Given the description of an element on the screen output the (x, y) to click on. 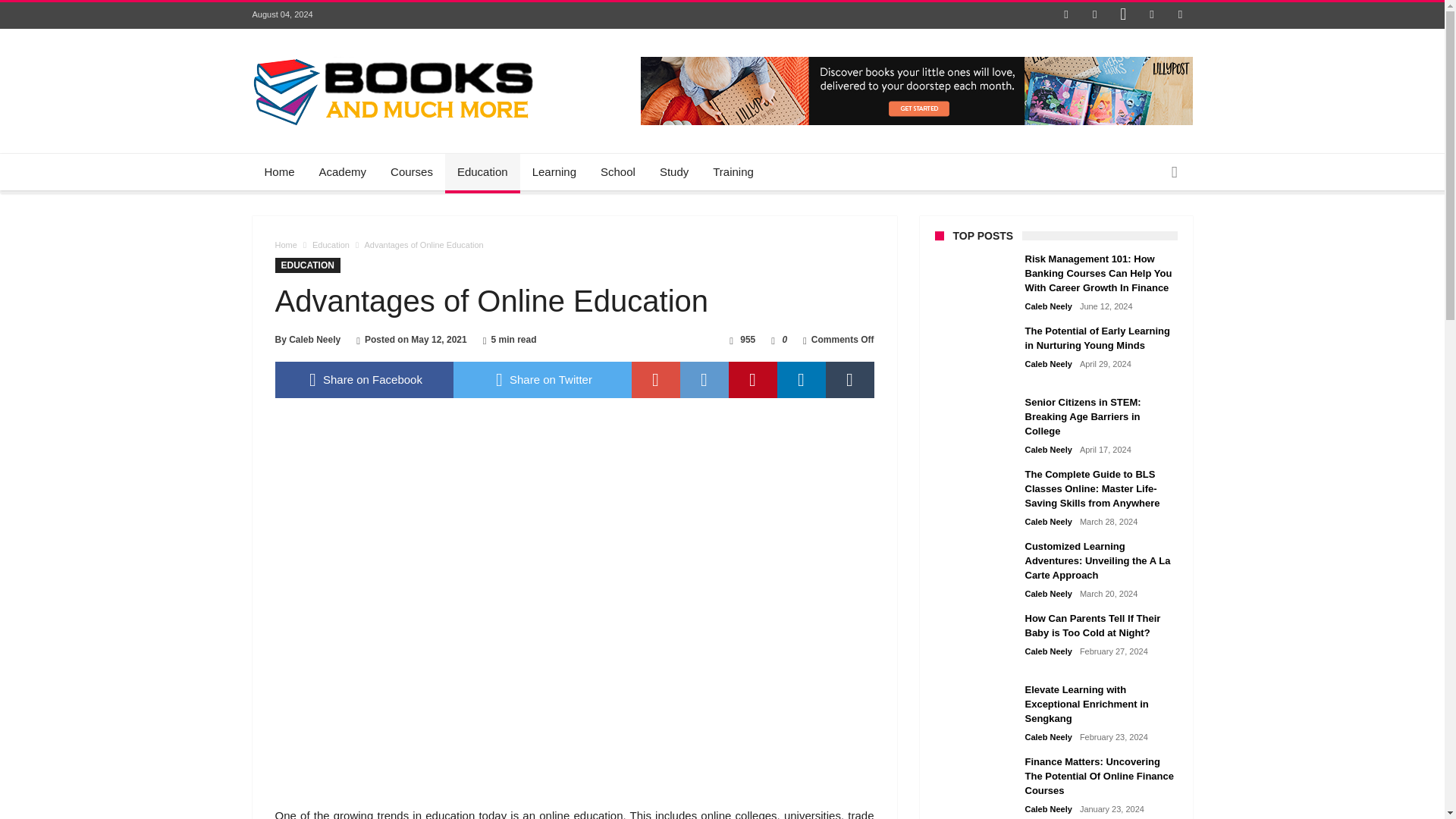
facebook (363, 379)
Twitter (1094, 15)
I like this article (772, 339)
Share on Tumblr (849, 379)
Study (673, 171)
Share on Reddit (703, 379)
Courses (411, 171)
Caleb Neely (314, 339)
Home (278, 171)
Vimeo (1179, 15)
